Given the description of an element on the screen output the (x, y) to click on. 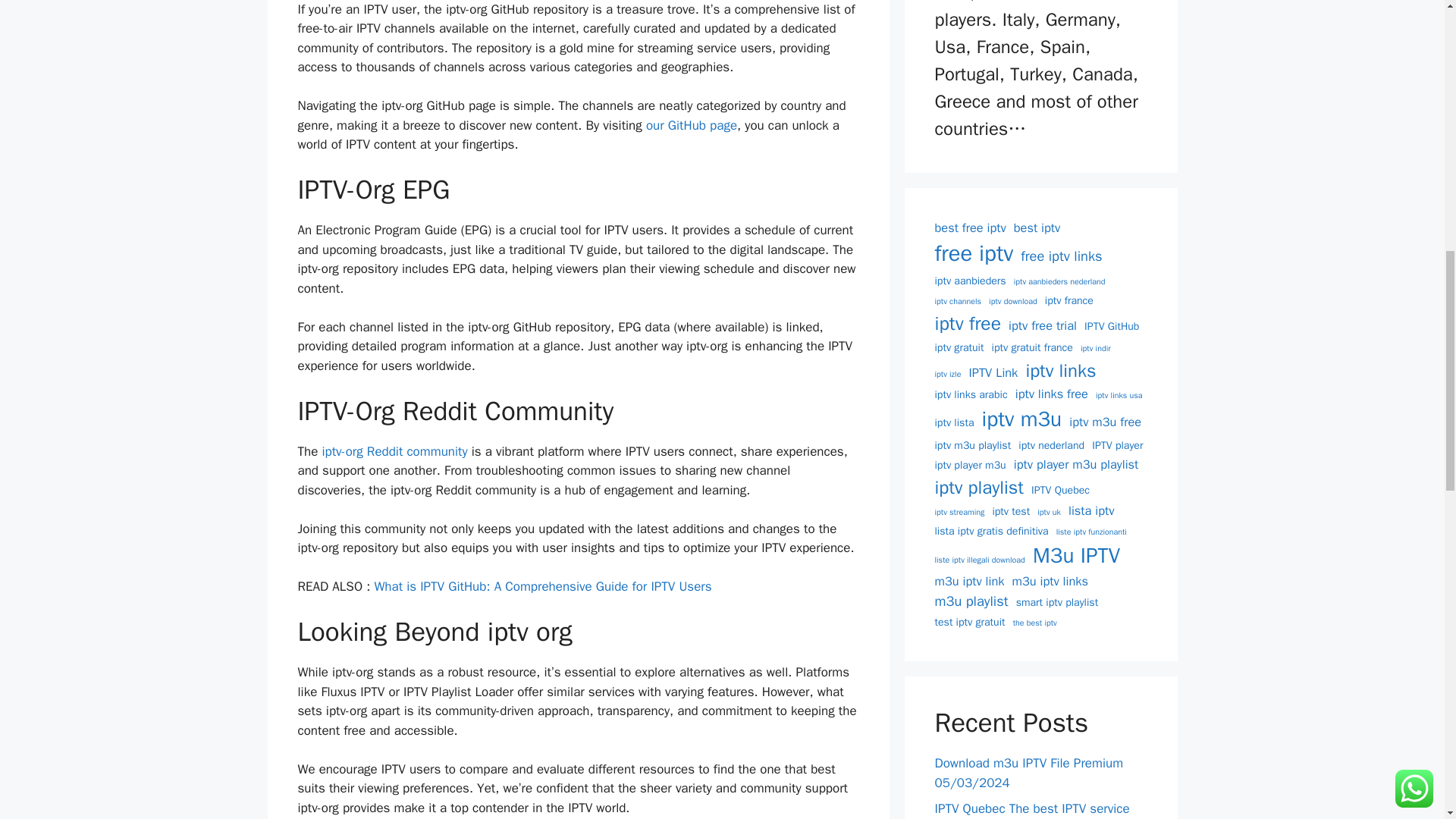
iptv-org Reddit community (394, 451)
Scroll back to top (1406, 720)
free iptv (973, 254)
free iptv links (1061, 255)
our GitHub page (691, 125)
best free iptv (970, 228)
What is IPTV GitHub: A Comprehensive Guide for IPTV Users (542, 586)
best iptv (1036, 228)
